Given the description of an element on the screen output the (x, y) to click on. 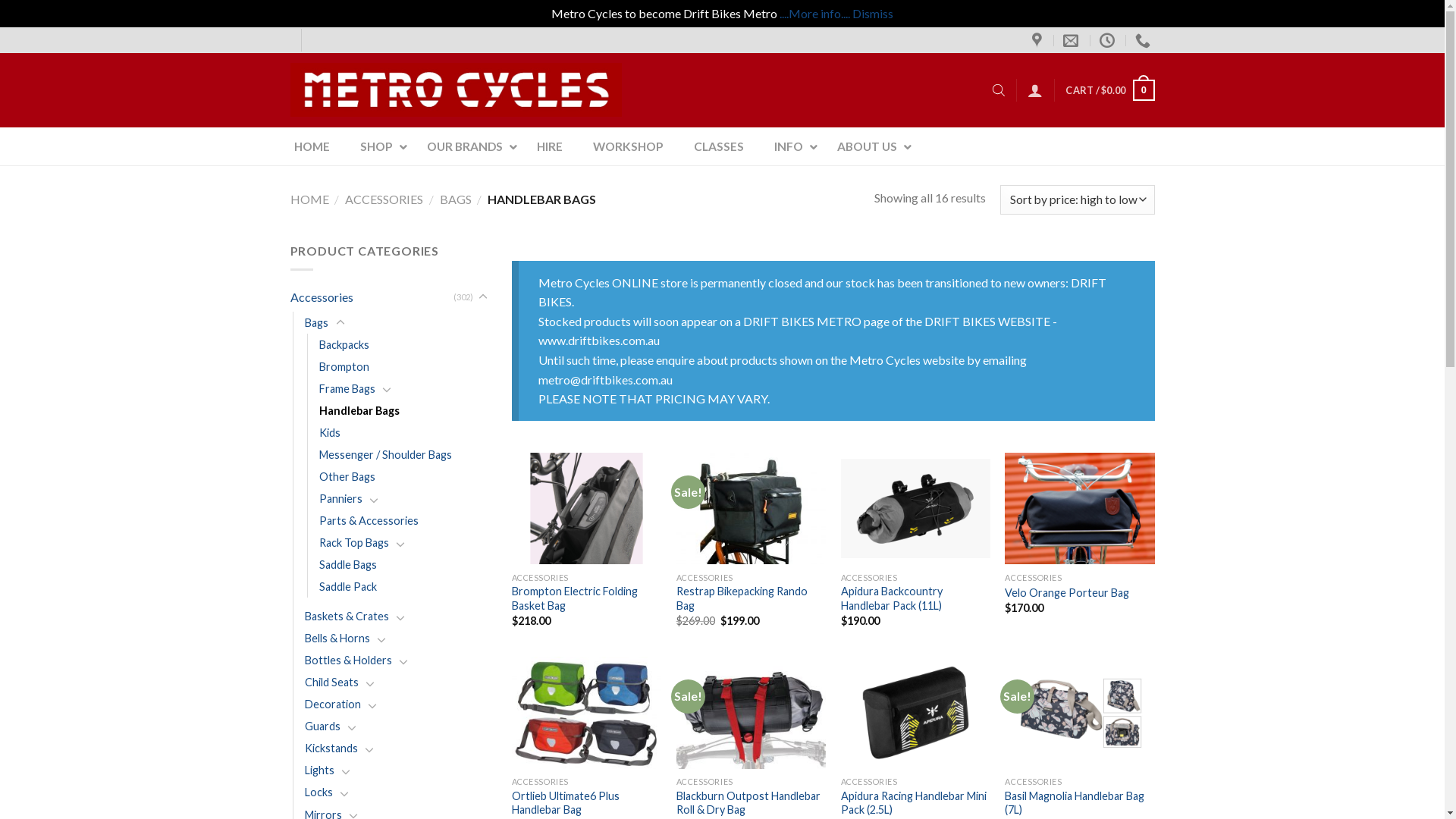
Apidura Racing Handlebar Mini Pack (2.5L) Element type: text (915, 803)
Brompton Element type: text (343, 366)
info@metrocycles.com.au Element type: hover (1072, 40)
OUR BRANDS Element type: text (465, 146)
INFO Element type: text (789, 146)
Accessories Element type: text (371, 296)
Panniers Element type: text (339, 498)
Decoration Element type: text (332, 704)
Saddle Pack Element type: text (347, 586)
CART / $0.00
0 Element type: text (1109, 90)
Bottles & Holders Element type: text (348, 660)
SHOP Element type: text (377, 146)
CLASSES Element type: text (717, 146)
....More info.... Element type: text (814, 13)
Handlebar Bags Element type: text (358, 410)
Backpacks Element type: text (343, 344)
Other Bags Element type: text (346, 476)
Basil Magnolia Handlebar Bag (7L) Element type: text (1079, 803)
Messenger / Shoulder Bags Element type: text (384, 454)
Kickstands Element type: text (330, 748)
Apidura Backcountry Handlebar Pack (11L) Element type: text (915, 598)
Frame Bags Element type: text (346, 388)
Baskets & Crates Element type: text (346, 616)
Kids Element type: text (328, 432)
Ortlieb Ultimate6 Plus Handlebar Bag Element type: text (586, 803)
Velo Orange Porteur Bag Element type: text (1066, 593)
ABOUT US Element type: text (869, 146)
02 4962 1060 Element type: hover (1144, 40)
Parts & Accessories Element type: text (367, 520)
WORKSHOP Element type: text (627, 146)
HOME Element type: text (308, 198)
Metro Cycles, 2 Bellevue St  Newcastle West  NSW  2302 Element type: hover (1038, 40)
Saddle Bags Element type: text (347, 564)
Bells & Horns Element type: text (337, 638)
Guards Element type: text (322, 726)
Lights Element type: text (319, 770)
Restrap Bikepacking Rando Bag Element type: text (750, 598)
ACCESSORIES Element type: text (384, 198)
Brompton Electric Folding Basket Bag Element type: text (586, 598)
Rack Top Bags Element type: text (353, 542)
Blackburn Outpost Handlebar Roll & Dry Bag Element type: text (750, 803)
Locks Element type: text (318, 792)
Bags Element type: text (316, 321)
HIRE Element type: text (549, 146)
HOME Element type: text (312, 146)
Dismiss Element type: text (872, 13)
Metro Cycles Element type: hover (455, 89)
Child Seats Element type: text (331, 682)
BAGS Element type: text (455, 198)
